Given the description of an element on the screen output the (x, y) to click on. 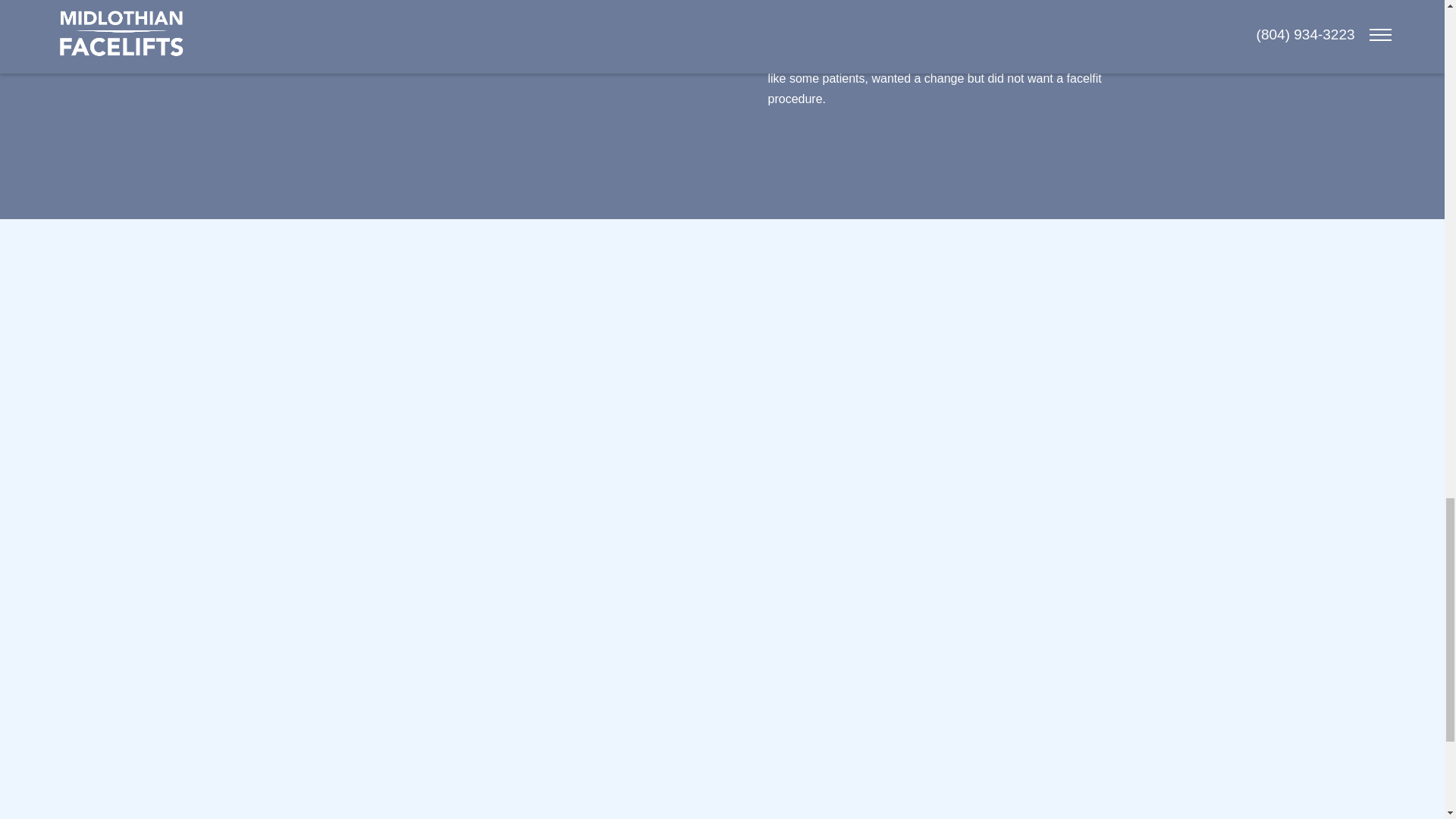
Request Appointment (911, 751)
